Given the description of an element on the screen output the (x, y) to click on. 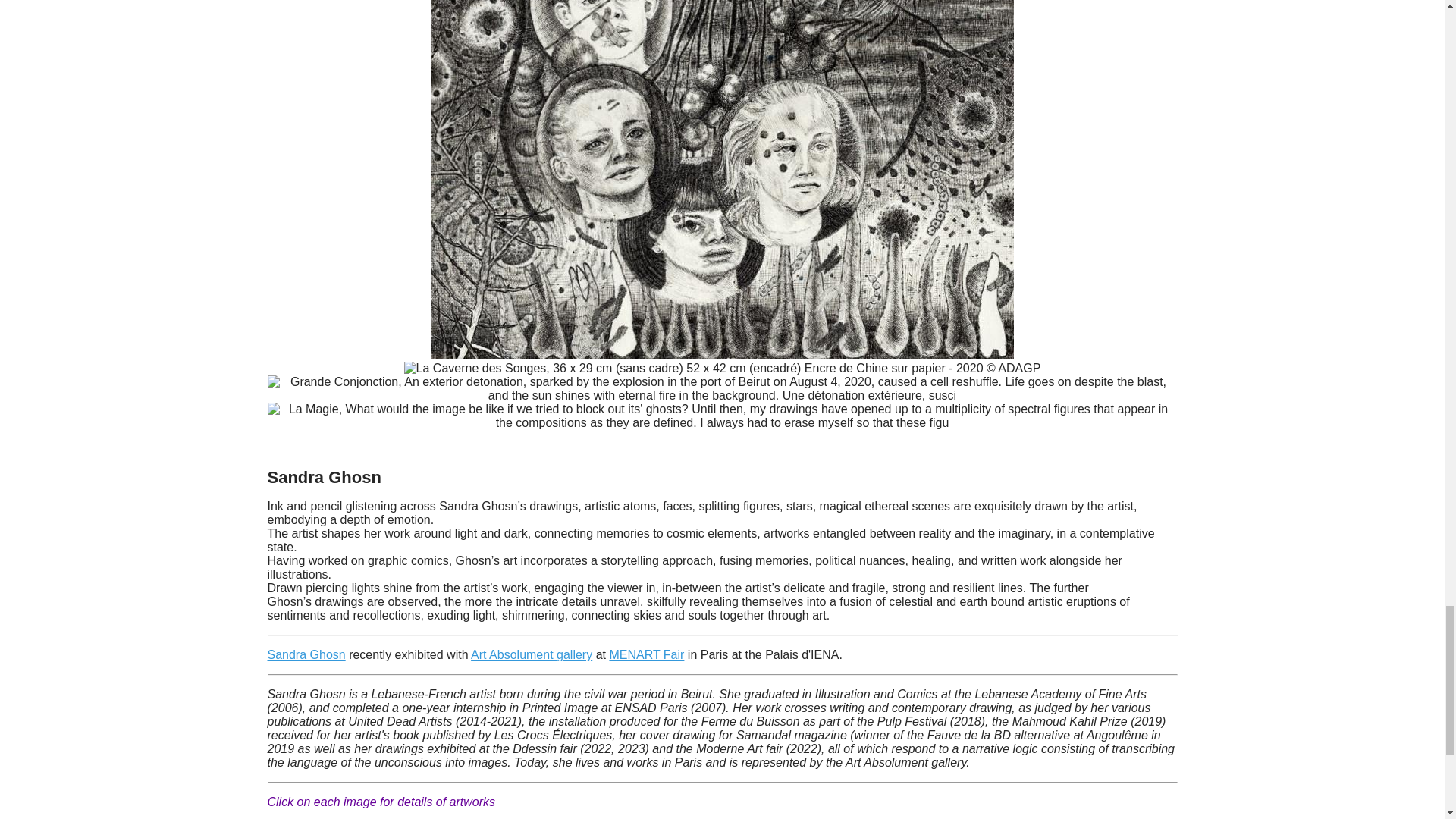
Sandra Ghosn (305, 654)
MENART Fair (646, 654)
Art Absolument gallery (531, 654)
